Given the description of an element on the screen output the (x, y) to click on. 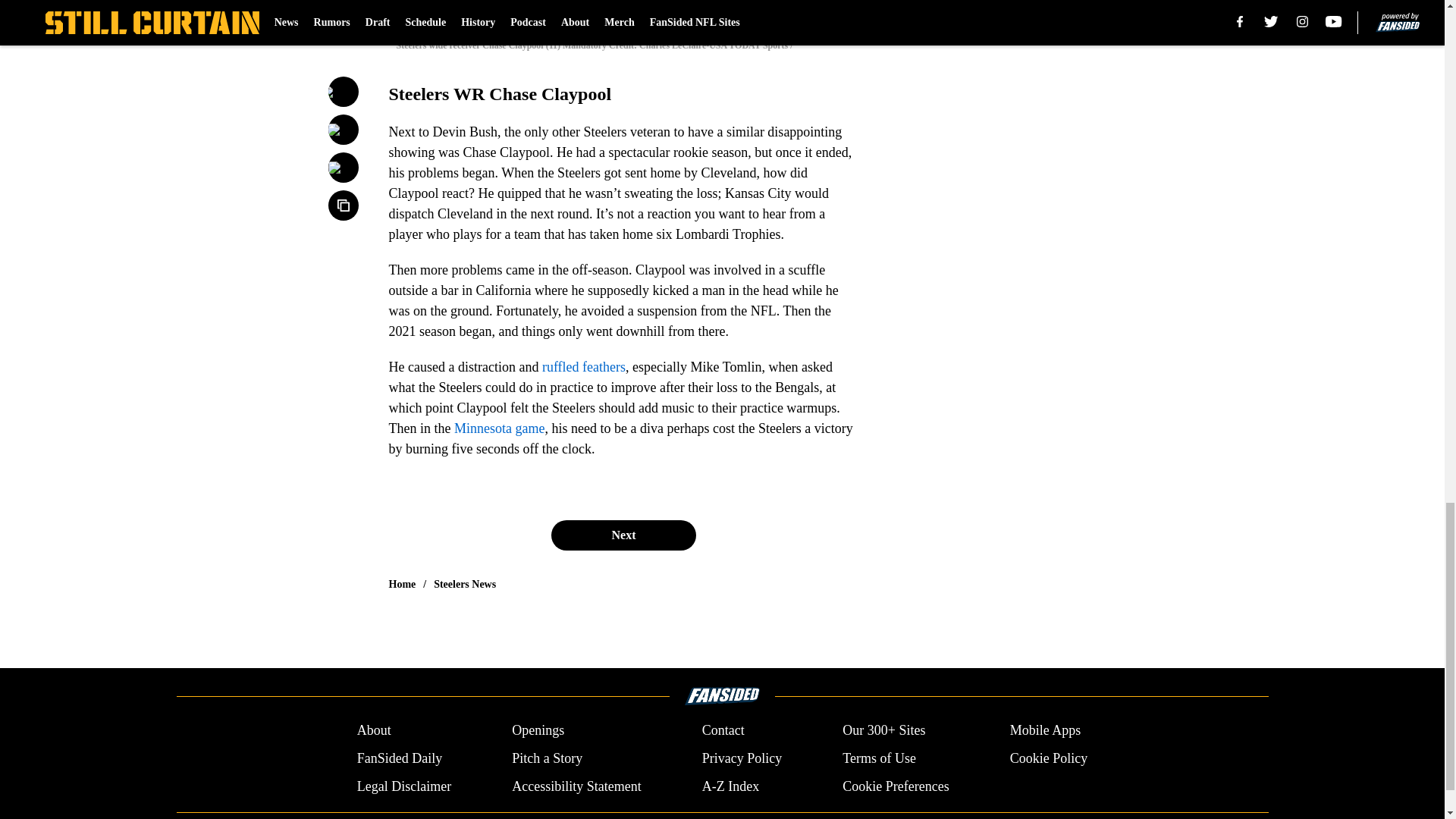
Steelers News (464, 584)
Terms of Use (879, 758)
Home (401, 584)
Minnesota game (499, 427)
Next (622, 535)
Pitch a Story (547, 758)
Mobile Apps (1045, 730)
About (373, 730)
FanSided Daily (399, 758)
ruffled feathers (583, 366)
